Given the description of an element on the screen output the (x, y) to click on. 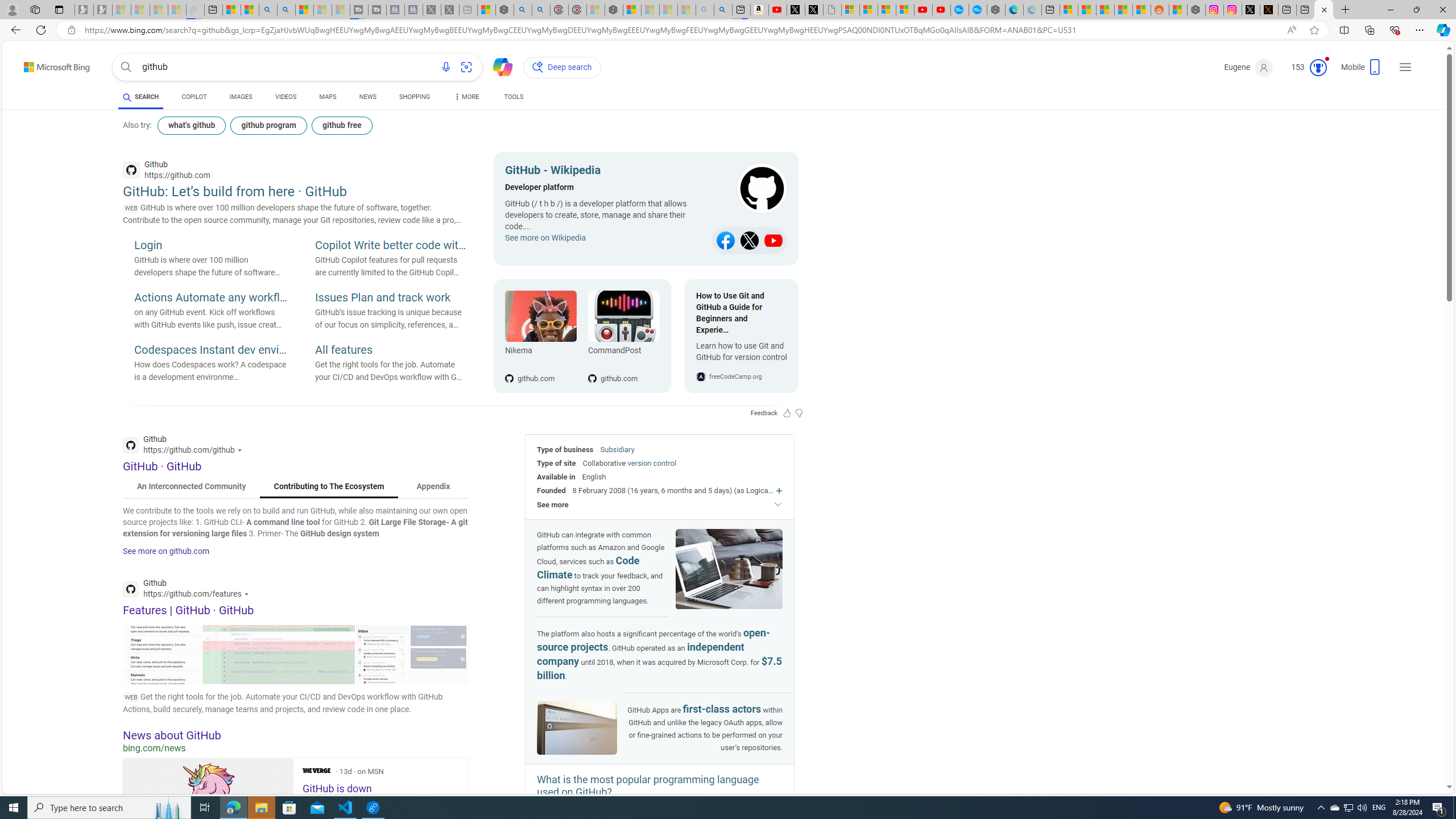
The most popular Google 'how to' searches (977, 9)
CommandPost (623, 315)
Type of site (556, 462)
amazon - Search - Sleeping (705, 9)
Nikema (540, 315)
Founded (551, 490)
